Given the description of an element on the screen output the (x, y) to click on. 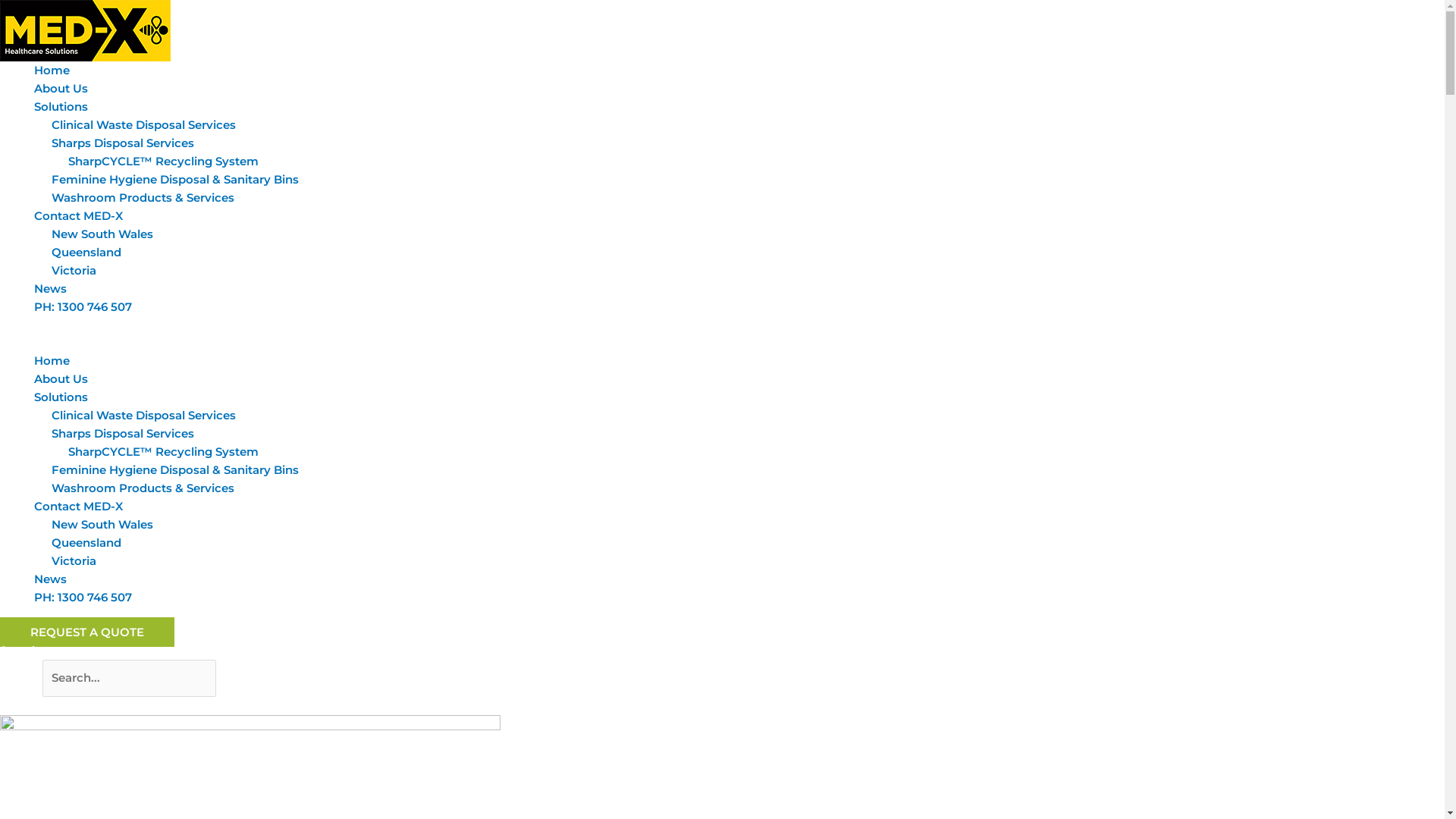
News Element type: text (50, 288)
Washroom Products & Services Element type: text (142, 487)
News Element type: text (50, 578)
Home Element type: text (51, 69)
Sharps Disposal Services Element type: text (122, 142)
Home Element type: text (51, 360)
Solutions Element type: text (60, 396)
PH: 1300 746 507 Element type: text (82, 596)
Clinical Waste Disposal Services Element type: text (143, 414)
New South Wales Element type: text (102, 524)
REQUEST A QUOTE Element type: text (87, 631)
Solutions Element type: text (60, 106)
Clinical Waste Disposal Services Element type: text (143, 124)
Queensland Element type: text (86, 251)
Victoria Element type: text (73, 560)
Sharps Disposal Services Element type: text (122, 433)
About Us Element type: text (60, 378)
Feminine Hygiene Disposal & Sanitary Bins Element type: text (174, 179)
New South Wales Element type: text (102, 233)
Feminine Hygiene Disposal & Sanitary Bins Element type: text (174, 469)
Washroom Products & Services Element type: text (142, 197)
Queensland Element type: text (86, 542)
About Us Element type: text (60, 88)
Contact MED-X Element type: text (78, 505)
PH: 1300 746 507 Element type: text (82, 306)
Contact MED-X Element type: text (78, 215)
Victoria Element type: text (73, 270)
